Given the description of an element on the screen output the (x, y) to click on. 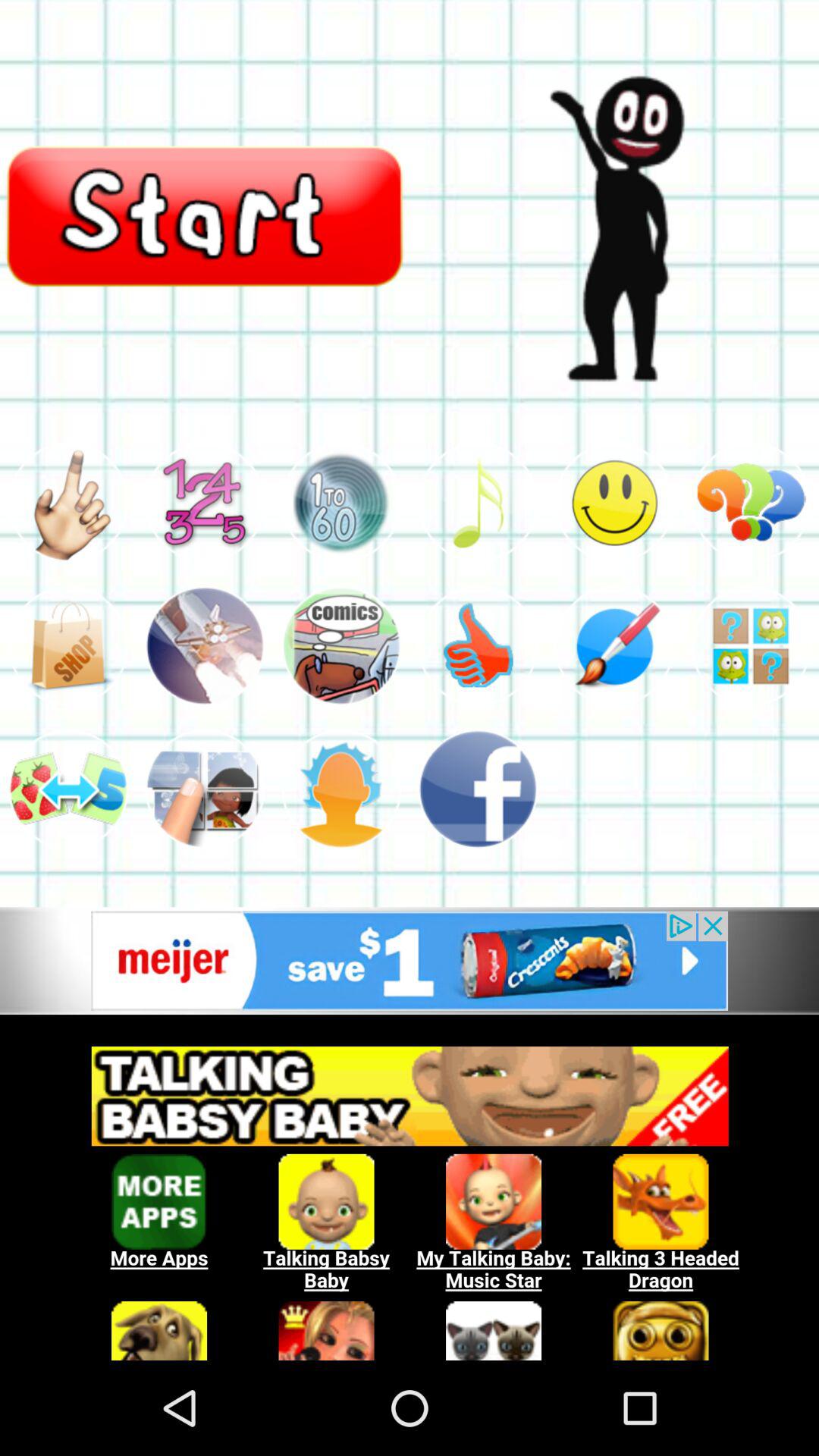
button to choose icon (68, 645)
